Given the description of an element on the screen output the (x, y) to click on. 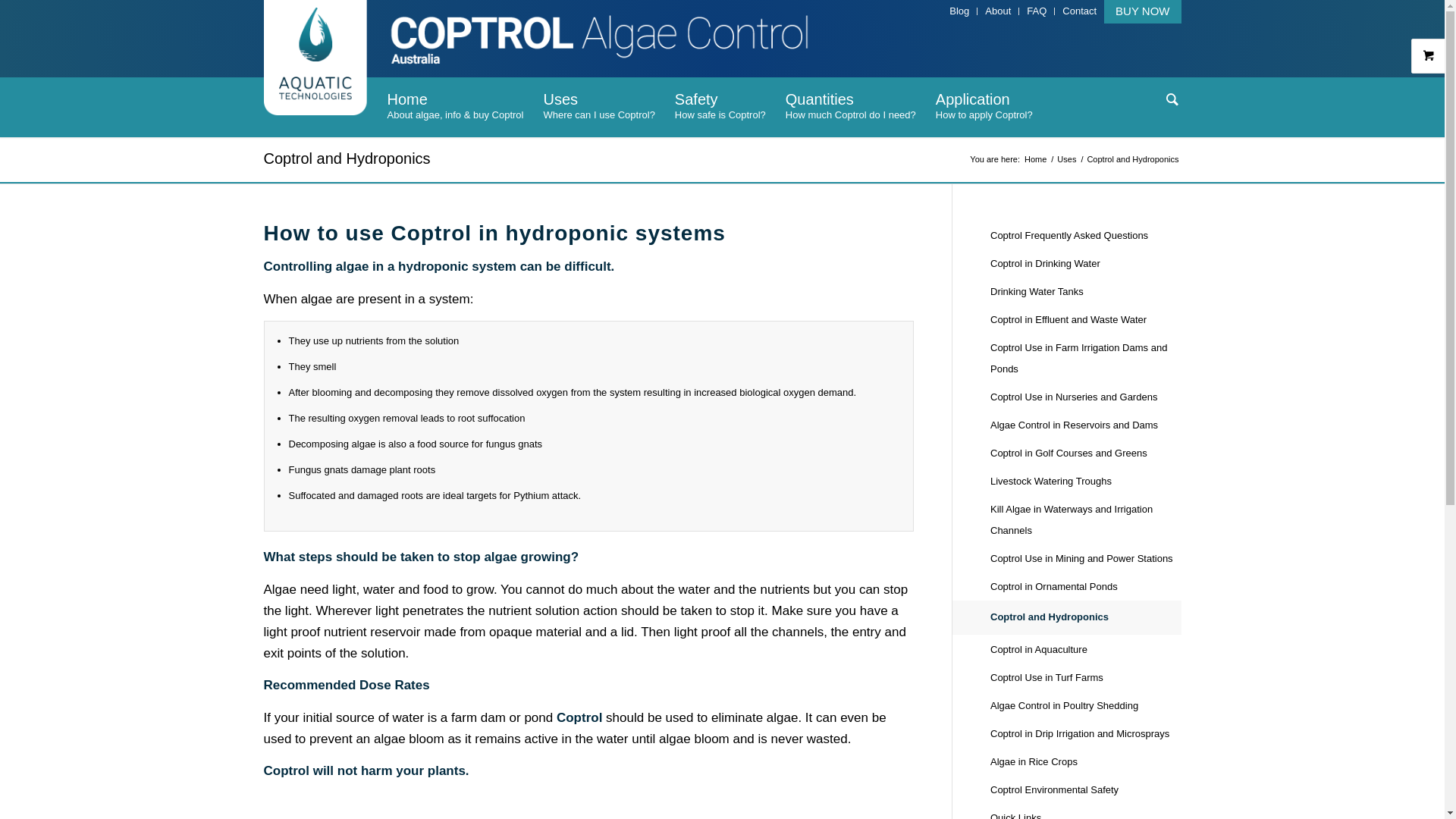
About Element type: text (997, 10)
Algae Control in Poultry Shedding Element type: text (1085, 706)
Coptrol Use in Farm Irrigation Dams and Ponds Element type: text (1085, 358)
Application Element type: text (983, 106)
Livestock Watering Troughs Element type: text (1085, 481)
Coptrol Use in Turf Farms Element type: text (1085, 678)
Home Element type: text (1035, 159)
Blog Element type: text (959, 10)
Coptrol in Drip Irrigation and Microsprays Element type: text (1085, 734)
Drinking Water Tanks Element type: text (1085, 292)
Coptrol Use in Nurseries and Gardens Element type: text (1085, 397)
Coptrol in Ornamental Ponds Element type: text (1085, 587)
Coptrol Environmental Safety Element type: text (1085, 790)
Home Element type: text (455, 106)
Algae in Rice Crops Element type: text (1085, 762)
Quantities Element type: text (850, 106)
Uses Element type: text (598, 106)
Uses Element type: text (1066, 159)
Coptrol in Drinking Water Element type: text (1085, 264)
Safety Element type: text (720, 106)
Coptrol and Hydroponics Element type: text (1085, 617)
Coptrol in Aquaculture Element type: text (1085, 649)
Kill Algae in Waterways and Irrigation Channels Element type: text (1085, 520)
Algae Control in Reservoirs and Dams Element type: text (1085, 425)
Coptrol Frequently Asked Questions Element type: text (1085, 236)
Coptrol Use in Mining and Power Stations Element type: text (1085, 559)
Coptrol and Hydroponics Element type: text (346, 158)
Contact Element type: text (1079, 10)
FAQ Element type: text (1036, 10)
Coptrol in Effluent and Waste Water Element type: text (1085, 320)
Coptrol in Golf Courses and Greens Element type: text (1085, 453)
